Given the description of an element on the screen output the (x, y) to click on. 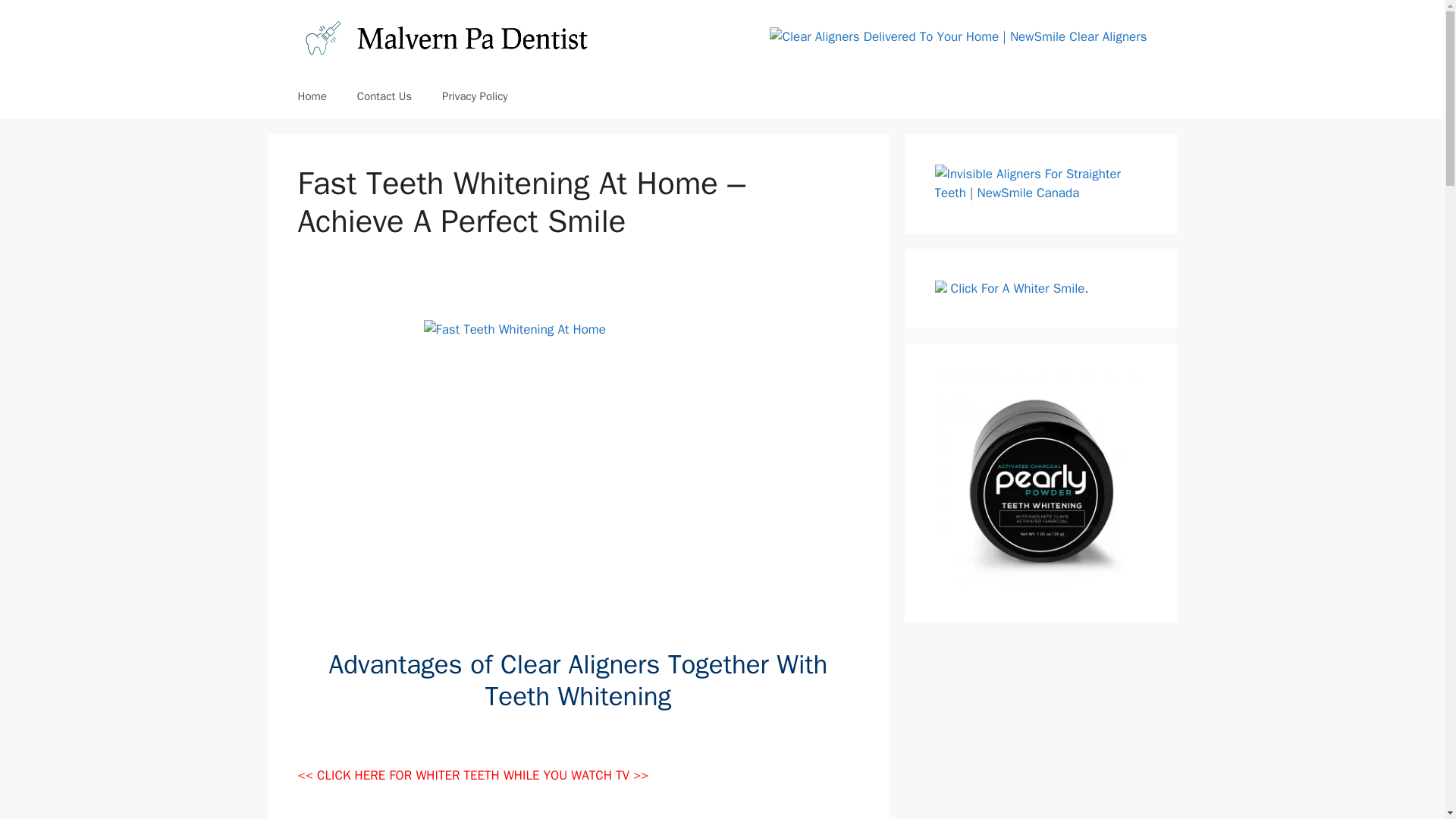
Contact Us (384, 95)
Home (311, 95)
MalvernPaDentist (444, 35)
Click For A Whiter Smile. (1019, 288)
Privacy Policy (474, 95)
MalvernPaDentist (444, 36)
